Given the description of an element on the screen output the (x, y) to click on. 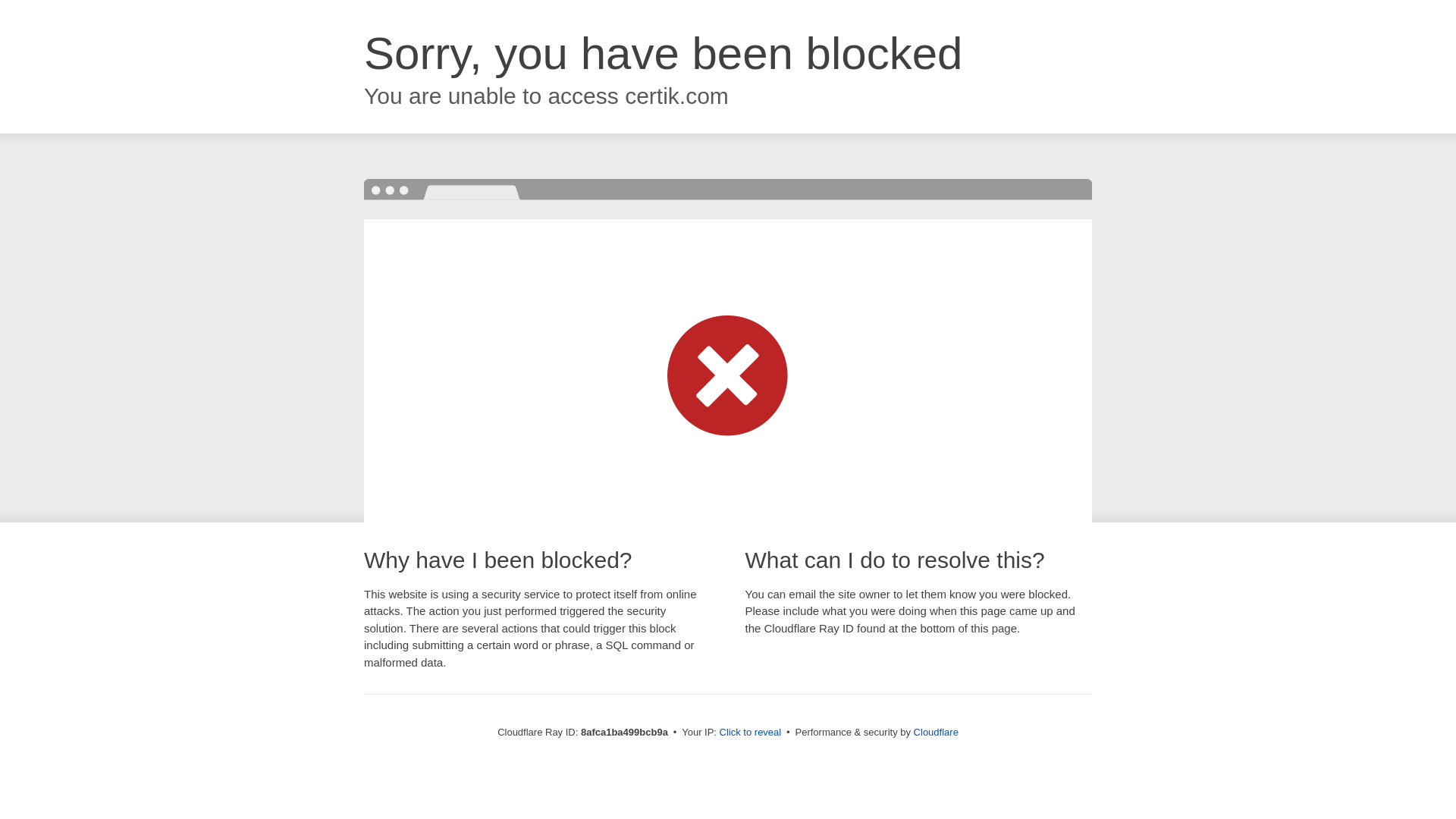
Cloudflare (936, 731)
Click to reveal (750, 732)
